Given the description of an element on the screen output the (x, y) to click on. 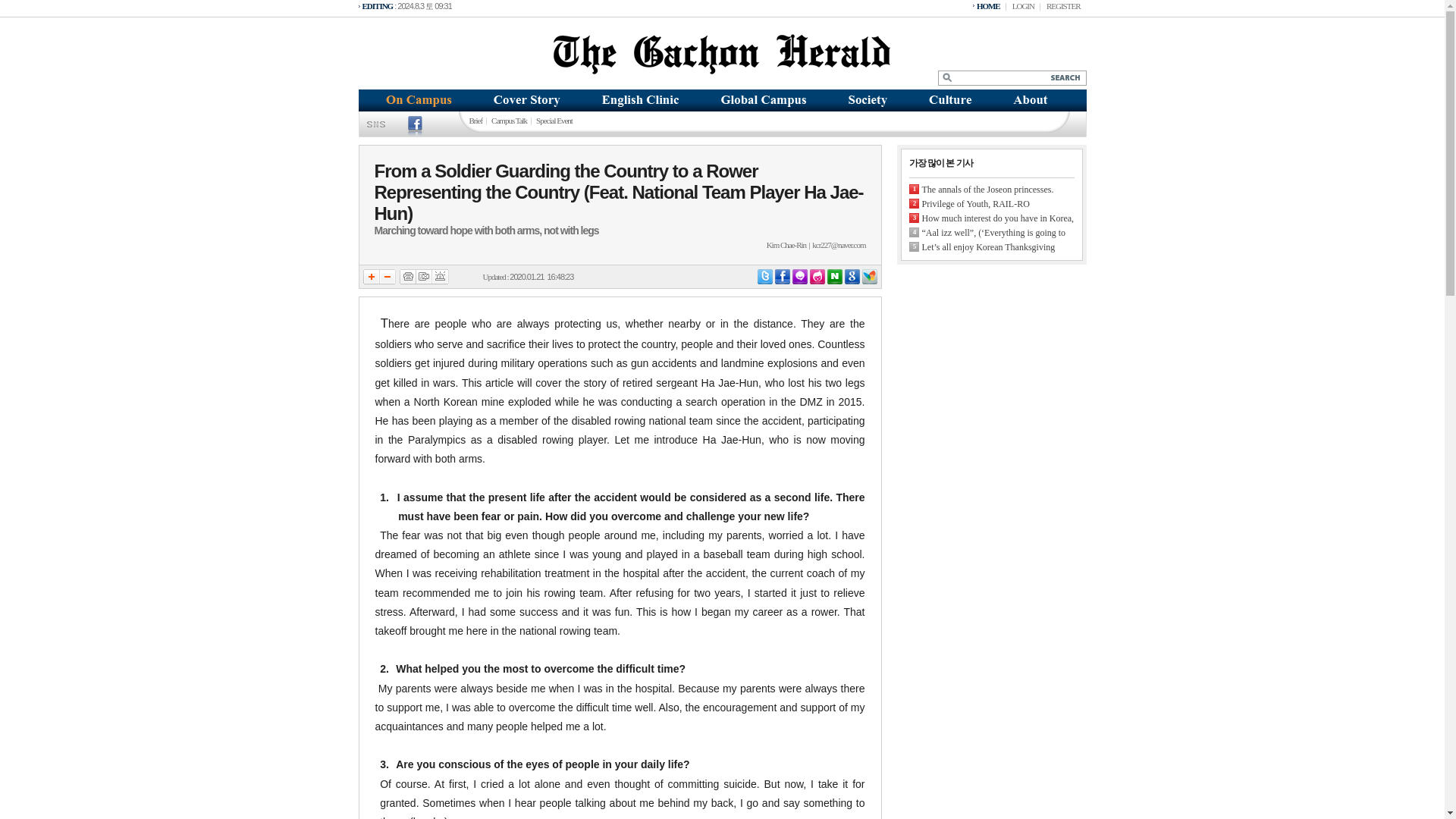
Brief (475, 120)
Global Campus (761, 100)
English Clinic (640, 100)
On Campus (414, 108)
Campus Talk (508, 120)
About (1039, 100)
Special Event (553, 120)
Culture (950, 108)
Cover Story (528, 100)
Cover Story (528, 108)
